Given the description of an element on the screen output the (x, y) to click on. 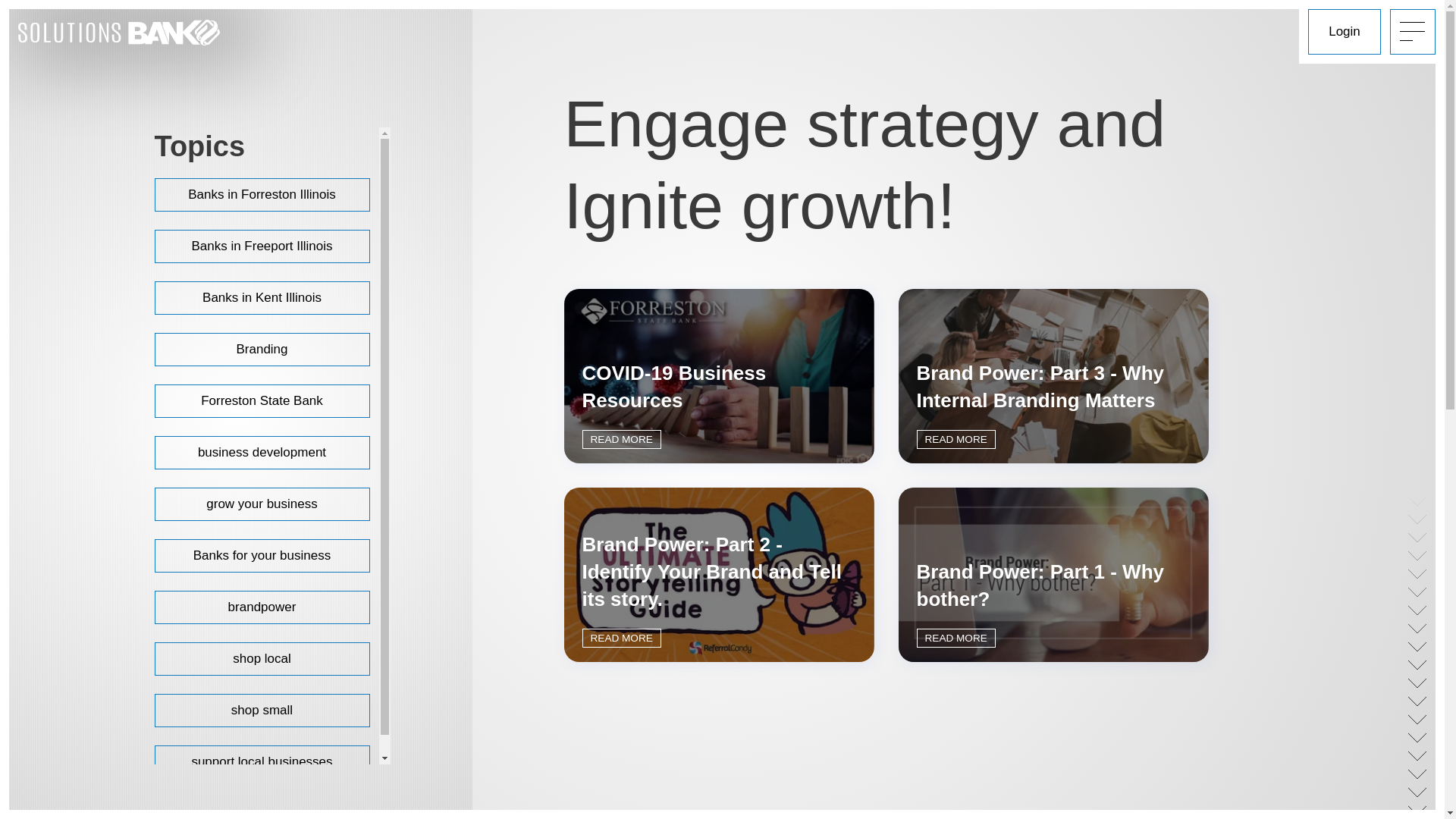
Menu Element type: text (1412, 31)
READ MORE Element type: text (955, 438)
Banks in Forreston Illinois Element type: text (262, 194)
Login Element type: text (1344, 31)
Banks for your business Element type: text (262, 555)
READ MORE Element type: text (621, 637)
Banks in Freeport Illinois Element type: text (262, 246)
Solutions Bank Logo Element type: text (137, 32)
Banks in Kent Illinois Element type: text (262, 297)
shop small Element type: text (262, 710)
Branding Element type: text (262, 349)
READ MORE Element type: text (955, 637)
business development Element type: text (262, 452)
grow your business Element type: text (262, 503)
shop local Element type: text (262, 658)
READ MORE Element type: text (621, 438)
support local businesses Element type: text (262, 761)
brandpower Element type: text (262, 607)
Forreston State Bank Element type: text (262, 400)
